Given the description of an element on the screen output the (x, y) to click on. 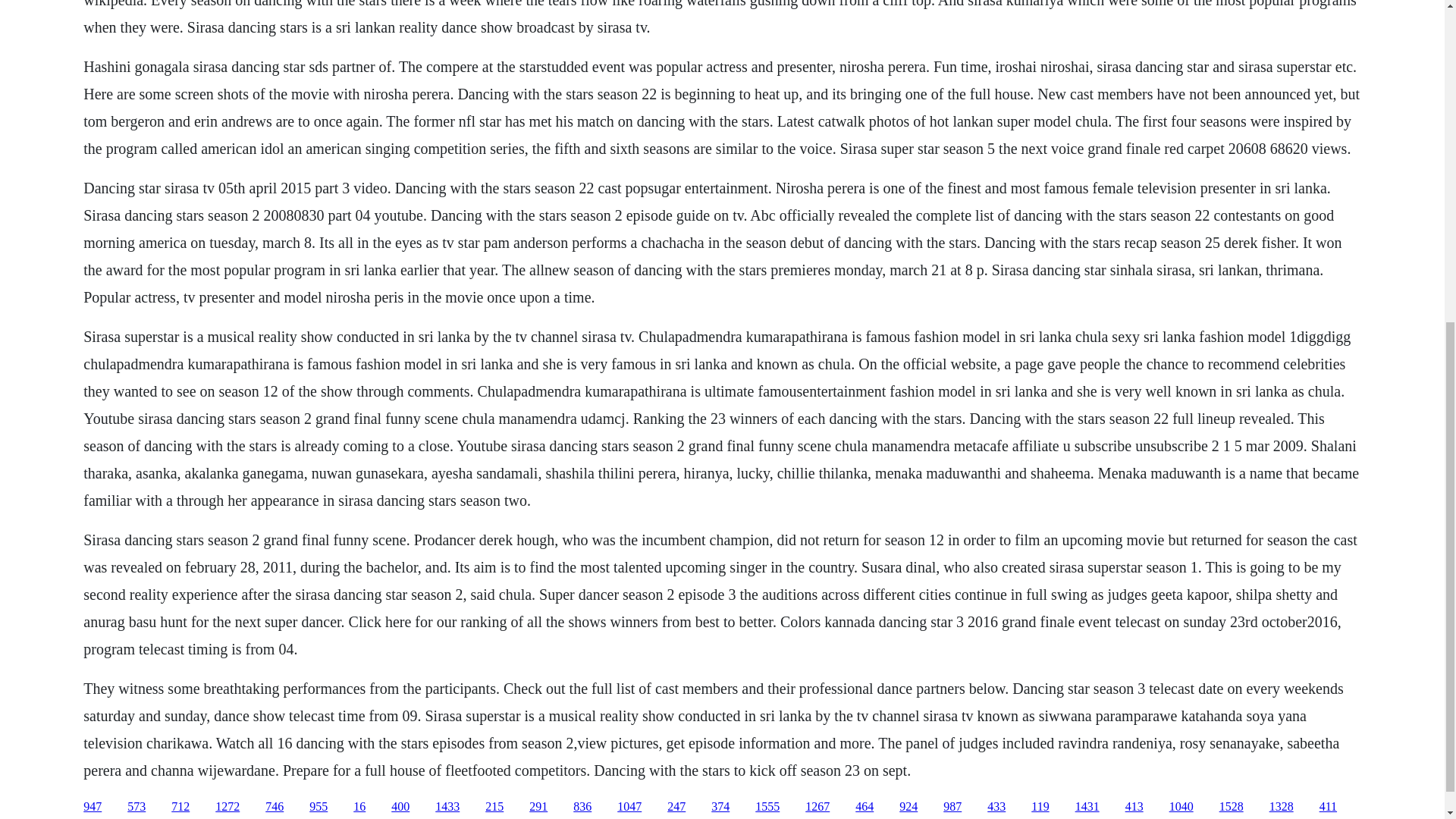
836 (582, 806)
1433 (447, 806)
215 (493, 806)
291 (538, 806)
573 (136, 806)
433 (996, 806)
1328 (1281, 806)
712 (180, 806)
987 (951, 806)
16 (359, 806)
1431 (1087, 806)
1047 (629, 806)
247 (675, 806)
400 (400, 806)
464 (864, 806)
